Given the description of an element on the screen output the (x, y) to click on. 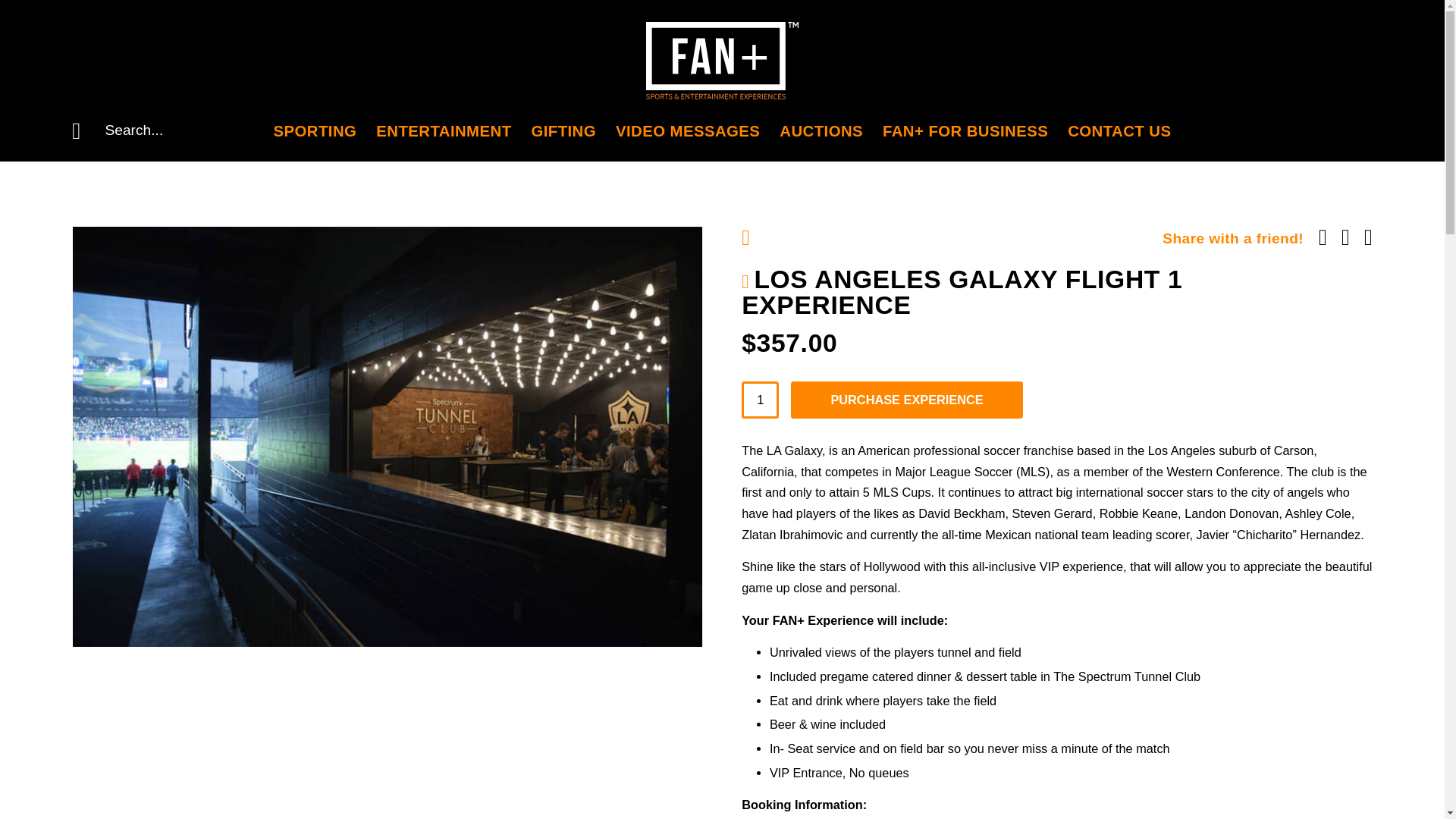
1 (759, 399)
CONTACT US (1118, 130)
SPORTING (314, 130)
VIDEO MESSAGES (687, 130)
AUCTIONS (820, 130)
ENTERTAINMENT (443, 130)
GIFTING (563, 130)
PURCHASE EXPERIENCE (906, 399)
